Given the description of an element on the screen output the (x, y) to click on. 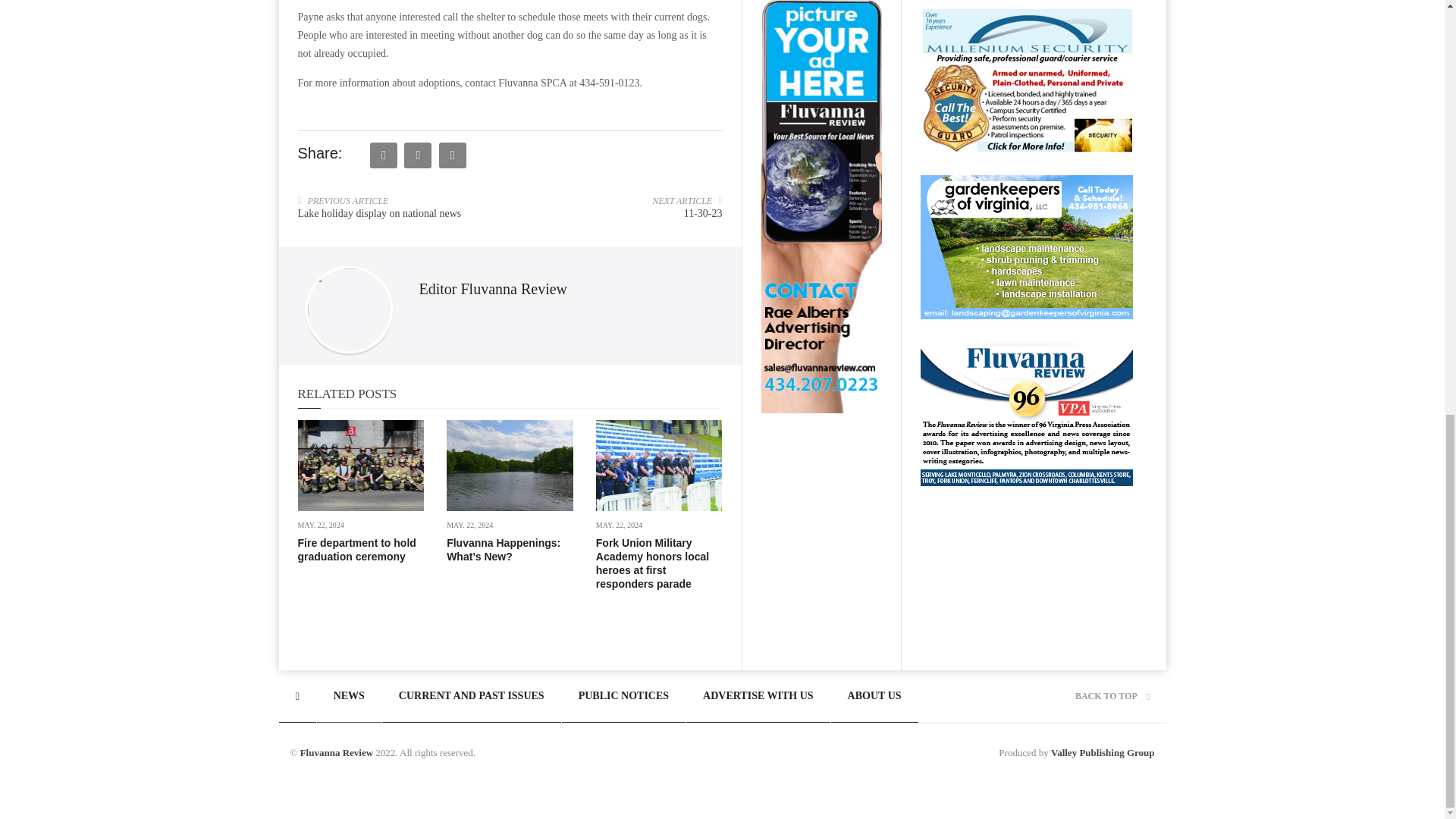
Posts by Editor Fluvanna Review (493, 288)
BACK TO TOP (1112, 695)
Lake holiday display on national news (379, 213)
11-30-23 (703, 213)
